Given the description of an element on the screen output the (x, y) to click on. 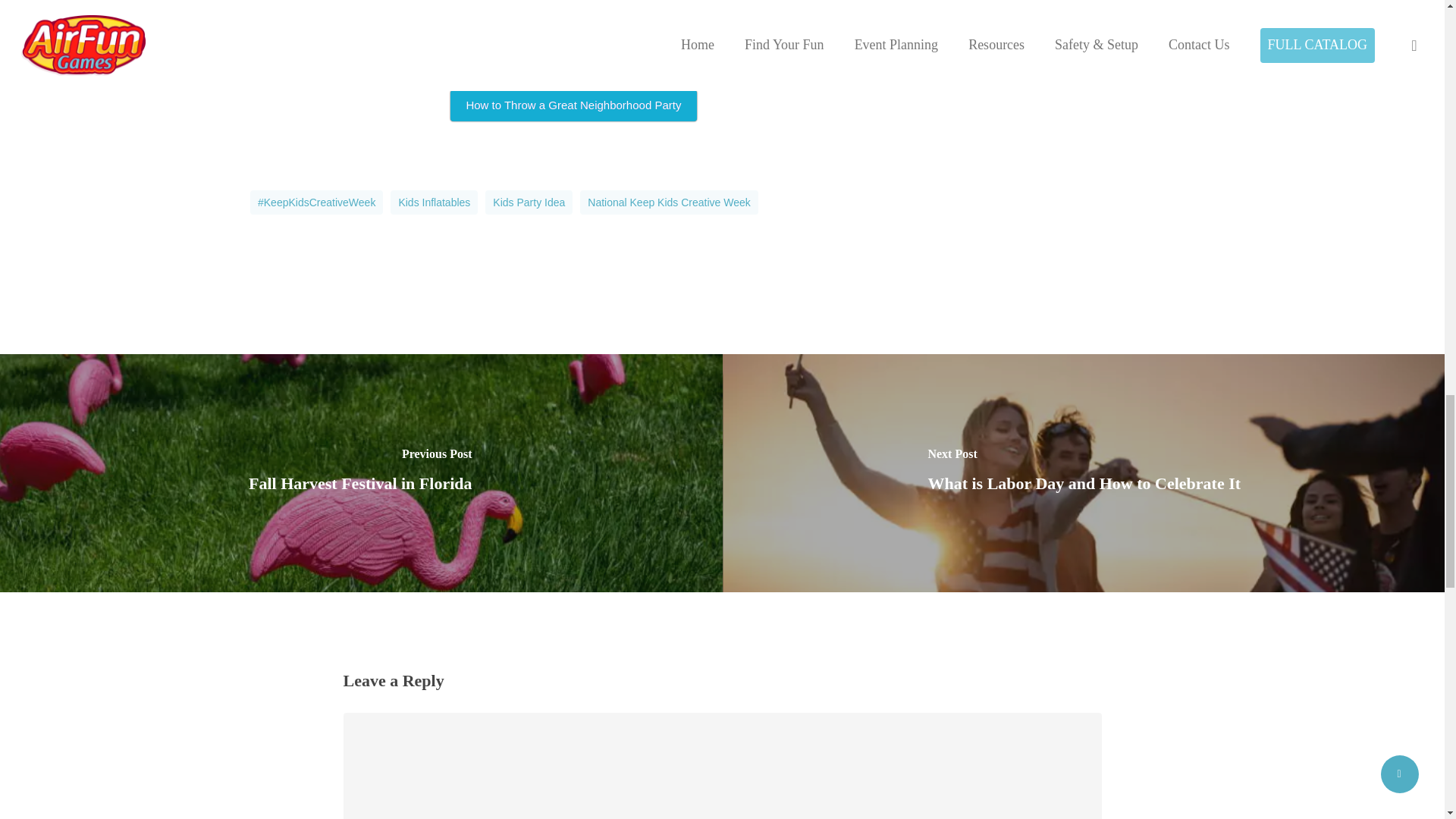
Kids Party Idea (528, 202)
National Keep Kids Creative Week (668, 202)
Kids Inflatables (433, 202)
How to Throw a Great Neighborhood Party (573, 105)
